Given the description of an element on the screen output the (x, y) to click on. 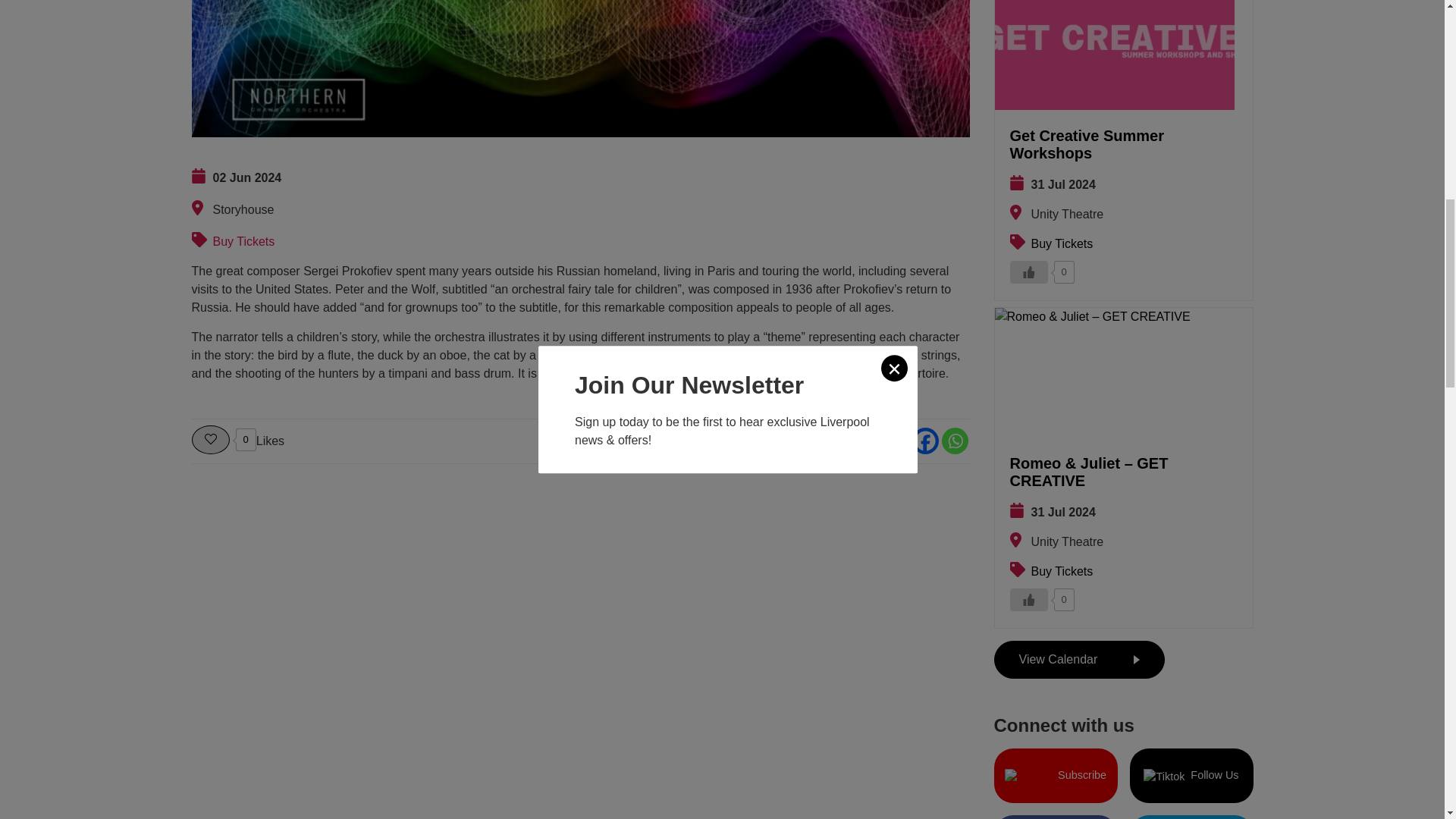
Email (895, 440)
Facebook (924, 440)
X (865, 440)
Whatsapp (955, 440)
